Given the description of an element on the screen output the (x, y) to click on. 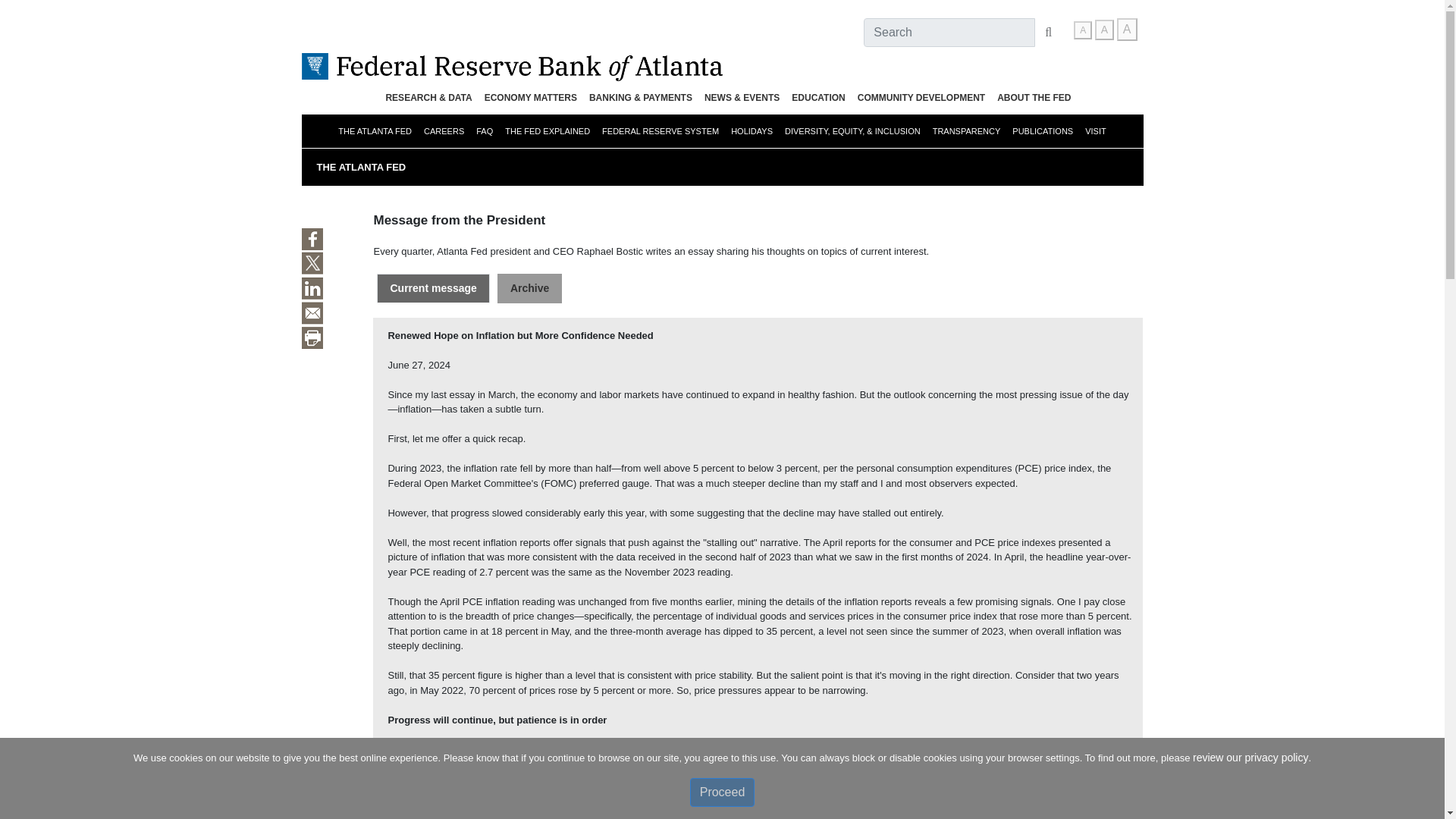
A (1126, 29)
A (1103, 29)
ECONOMY MATTERS (531, 97)
Link to privacy policy (1250, 757)
A (1083, 30)
Facebook share (312, 239)
